Given the description of an element on the screen output the (x, y) to click on. 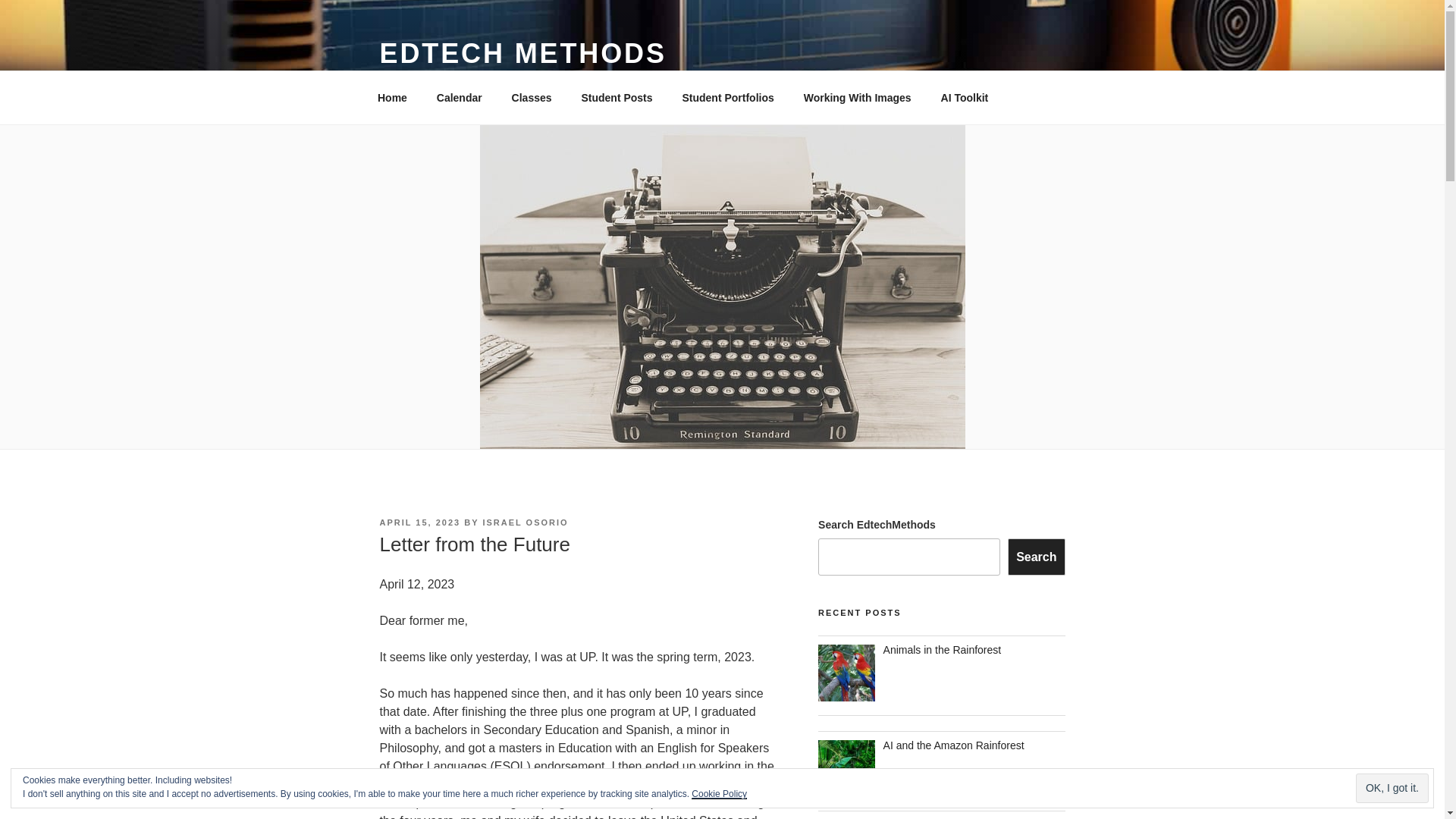
Search (1035, 556)
APRIL 15, 2023 (419, 522)
Student Portfolios (727, 97)
Home (392, 97)
Student Posts (616, 97)
OK, I got it. (1391, 788)
Classes (530, 97)
Animals in the Rainforest (942, 649)
AI and the Amazon Rainforest (954, 745)
Working With Images (857, 97)
Calendar (459, 97)
ISRAEL OSORIO (524, 522)
AI Toolkit (964, 97)
EDTECH METHODS (521, 52)
